Given the description of an element on the screen output the (x, y) to click on. 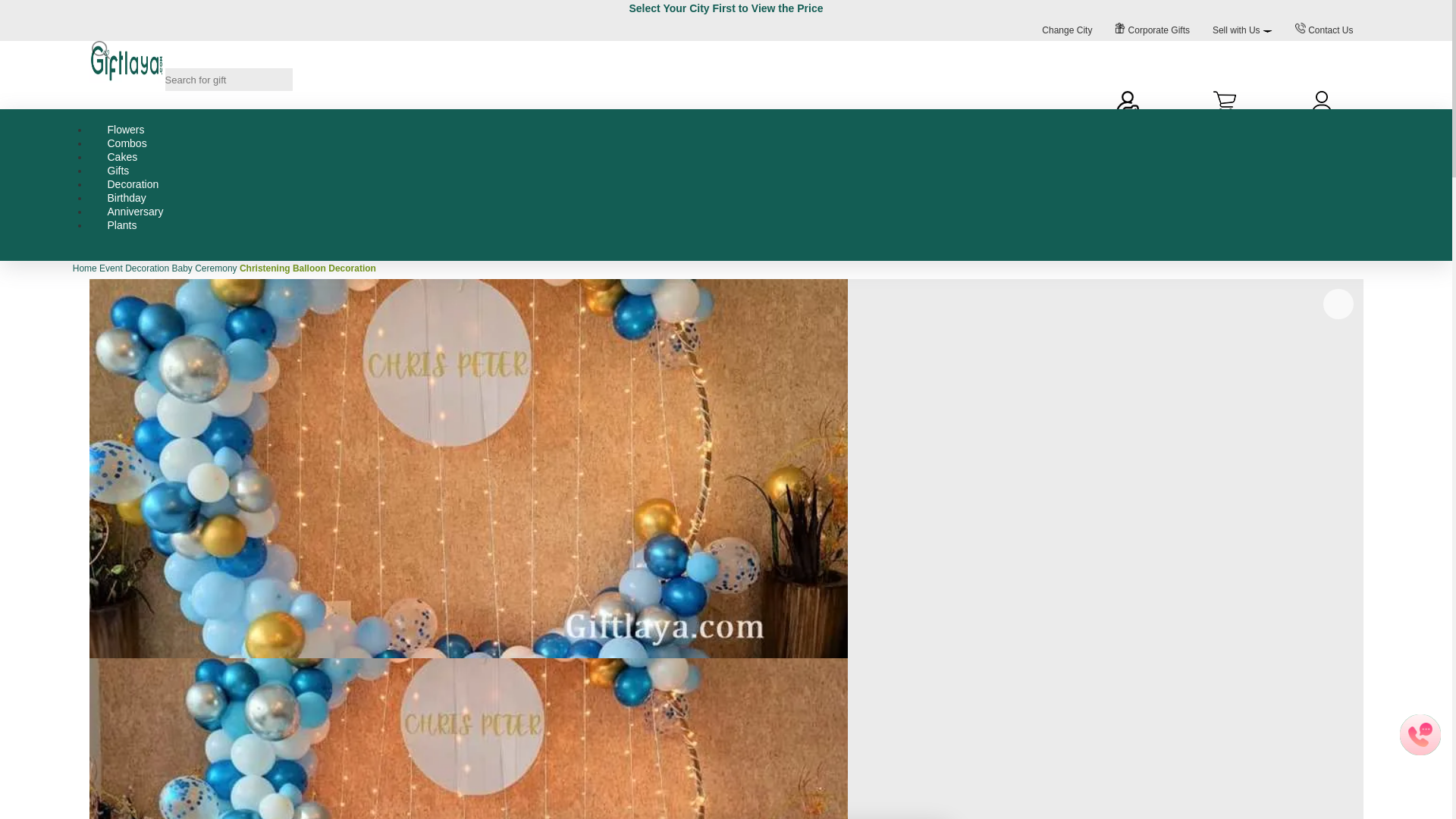
Corporate Gifts (1152, 29)
Contact Us (1323, 29)
Gifts (118, 170)
Change City (1067, 29)
Anniversary (135, 211)
Flowers (125, 129)
Combos (126, 143)
Event Decoration (133, 267)
Sell with Us (1242, 29)
Plants (121, 224)
Decoration (132, 184)
Home (84, 267)
Cakes (121, 156)
Birthday (126, 197)
